Given the description of an element on the screen output the (x, y) to click on. 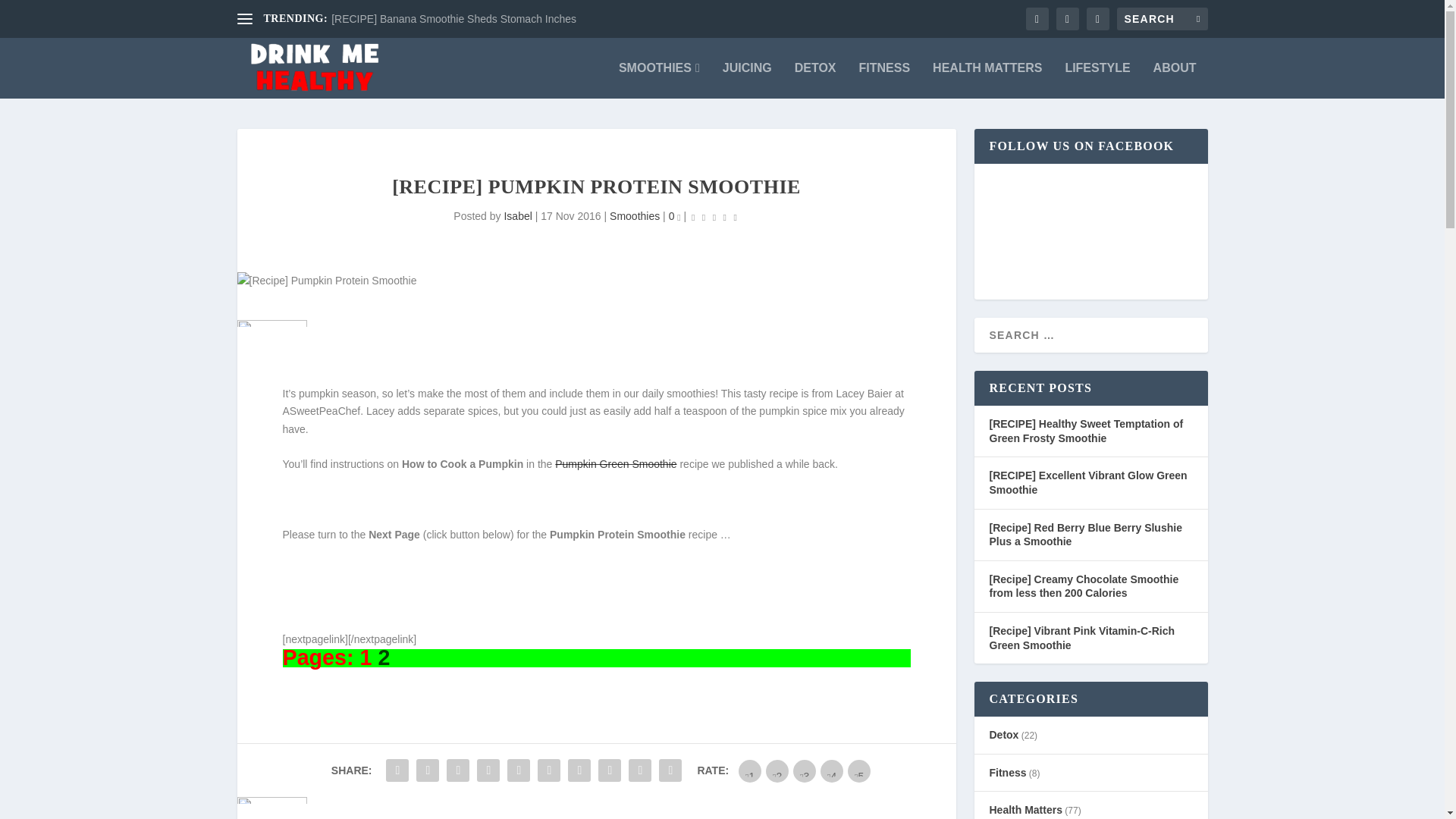
Isabel (517, 215)
Search for: (1161, 18)
Rating: 0.00 (713, 217)
JUICING (746, 80)
Smoothies (634, 215)
DETOX (814, 80)
ABOUT (1174, 80)
FITNESS (885, 80)
LIFESTYLE (1096, 80)
HEALTH MATTERS (987, 80)
0 (674, 215)
Posts by Isabel (517, 215)
SMOOTHIES (659, 80)
